Given the description of an element on the screen output the (x, y) to click on. 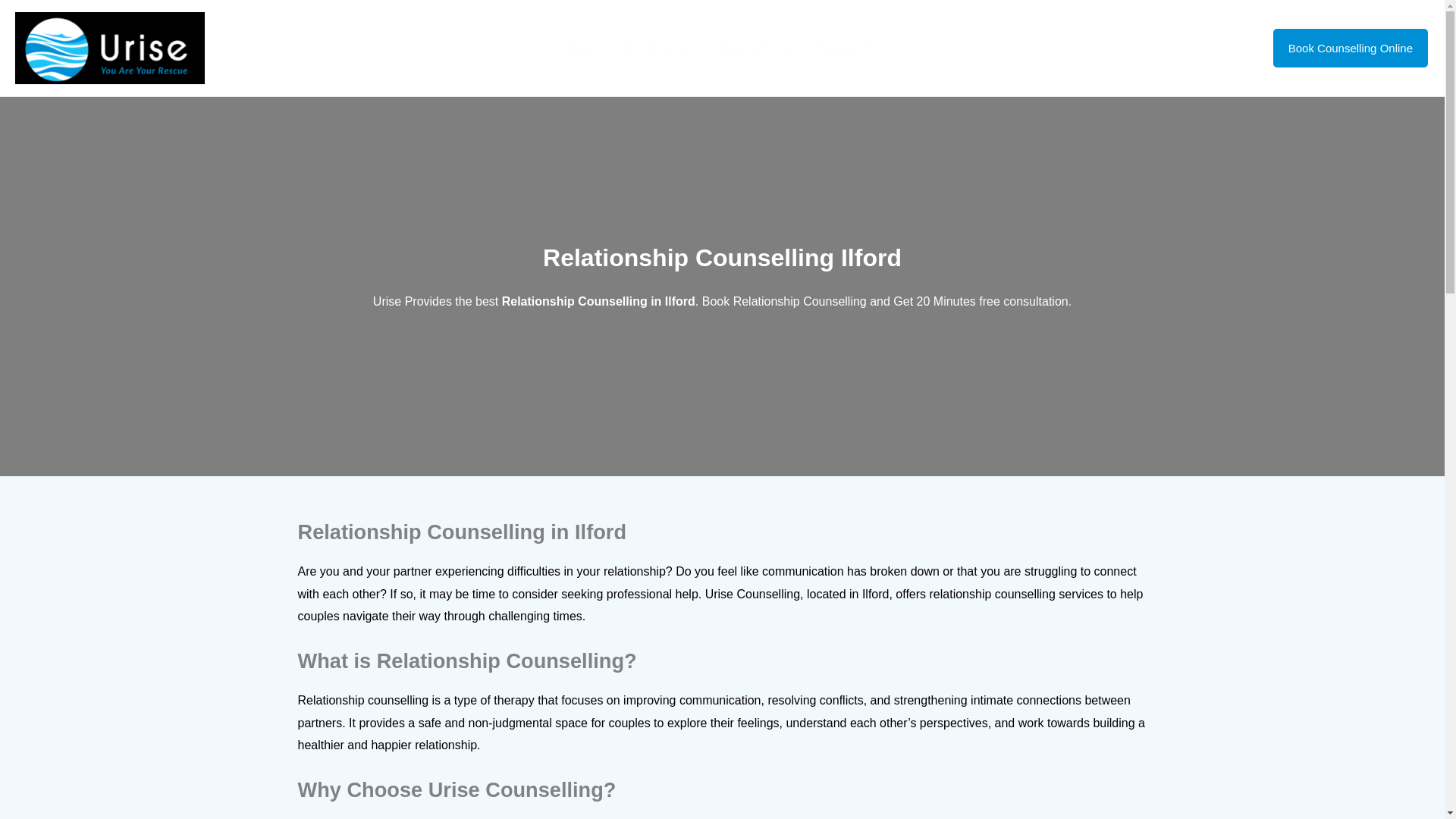
Home (582, 48)
Contact Us (847, 48)
Privacy Policy (754, 48)
Book Counselling Online (1350, 48)
Our Reviews (658, 48)
